Given the description of an element on the screen output the (x, y) to click on. 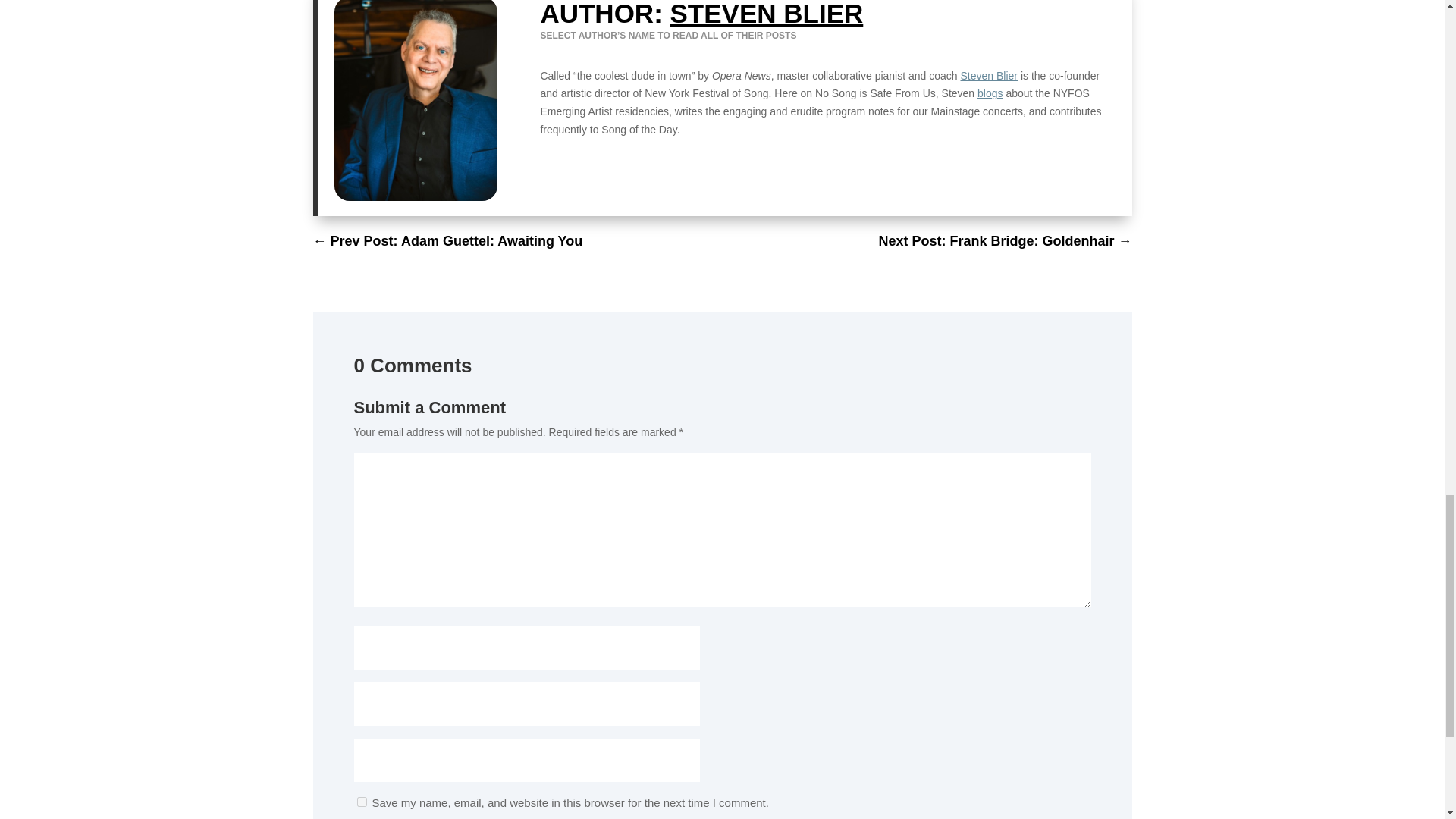
Steven Blier (988, 75)
blogs (989, 92)
yes (361, 801)
STEVEN BLIER (766, 13)
